Given the description of an element on the screen output the (x, y) to click on. 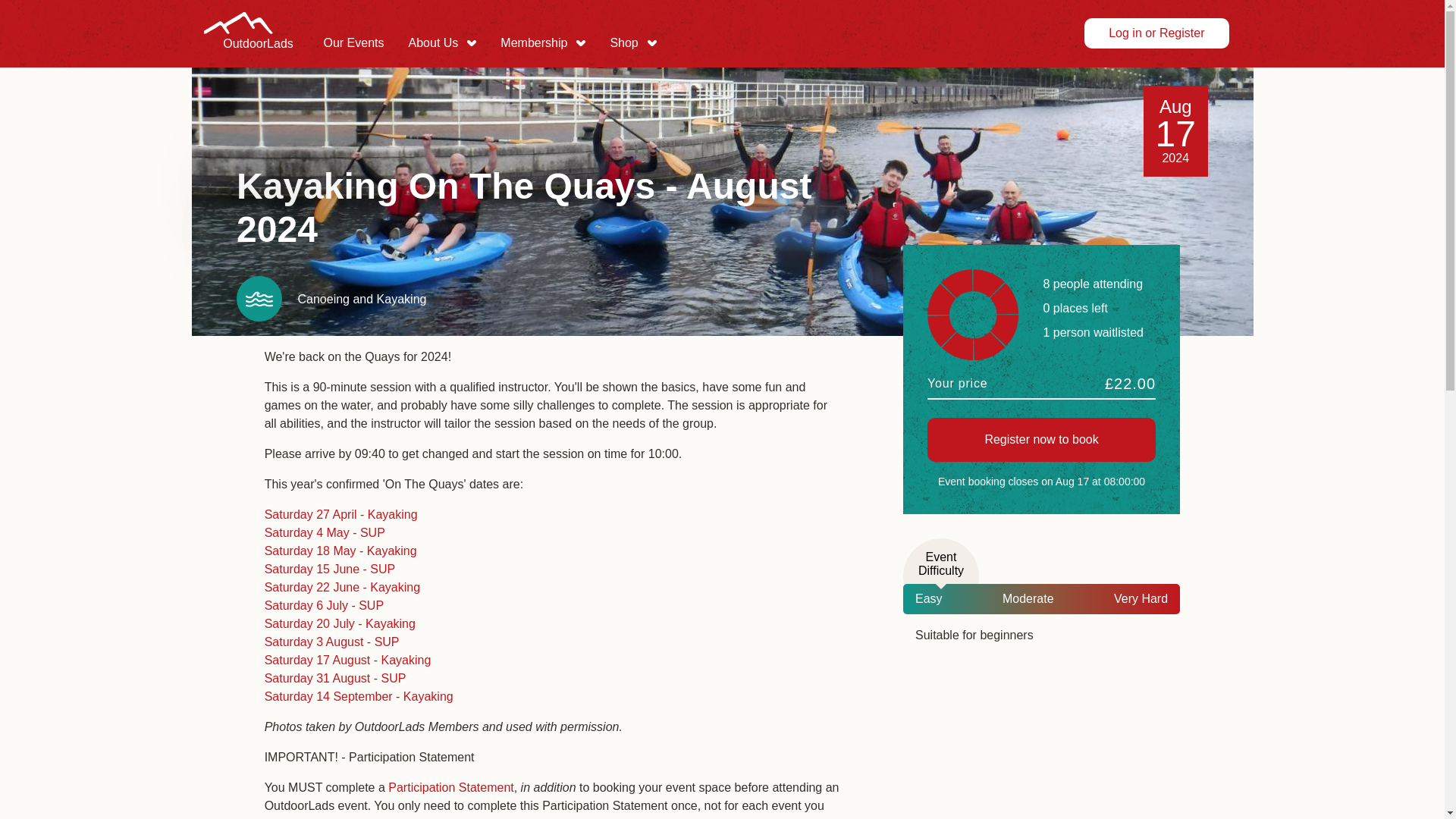
Register now to book (1041, 439)
Saturday 27 April - Kayaking (340, 513)
Membership (541, 44)
Saturday 31 August - SUP (335, 677)
Saturday 20 July - Kayaking (339, 623)
Saturday 17 August - Kayaking (347, 659)
Saturday 14 September - Kayaking (358, 696)
Participation Statement (257, 57)
Saturday 22 June - Kayaking (450, 787)
Shop (342, 586)
Log in or Register (632, 44)
Water Event icon - Jewel Created with Sketch. (1156, 33)
Saturday 3 August - SUP (258, 298)
Saturday 6 July - SUP (331, 641)
